Given the description of an element on the screen output the (x, y) to click on. 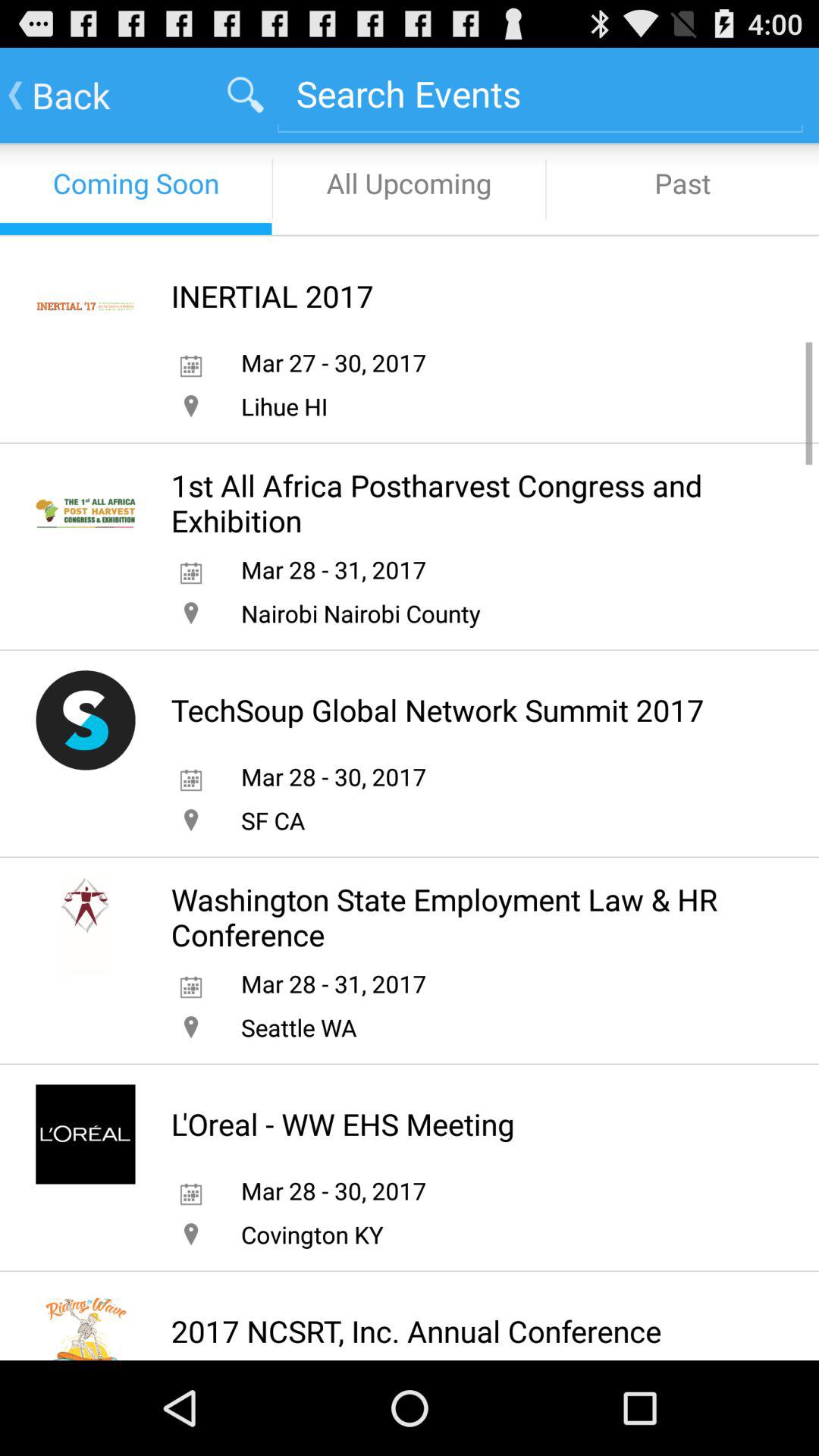
jump until the 1st all africa app (463, 502)
